Given the description of an element on the screen output the (x, y) to click on. 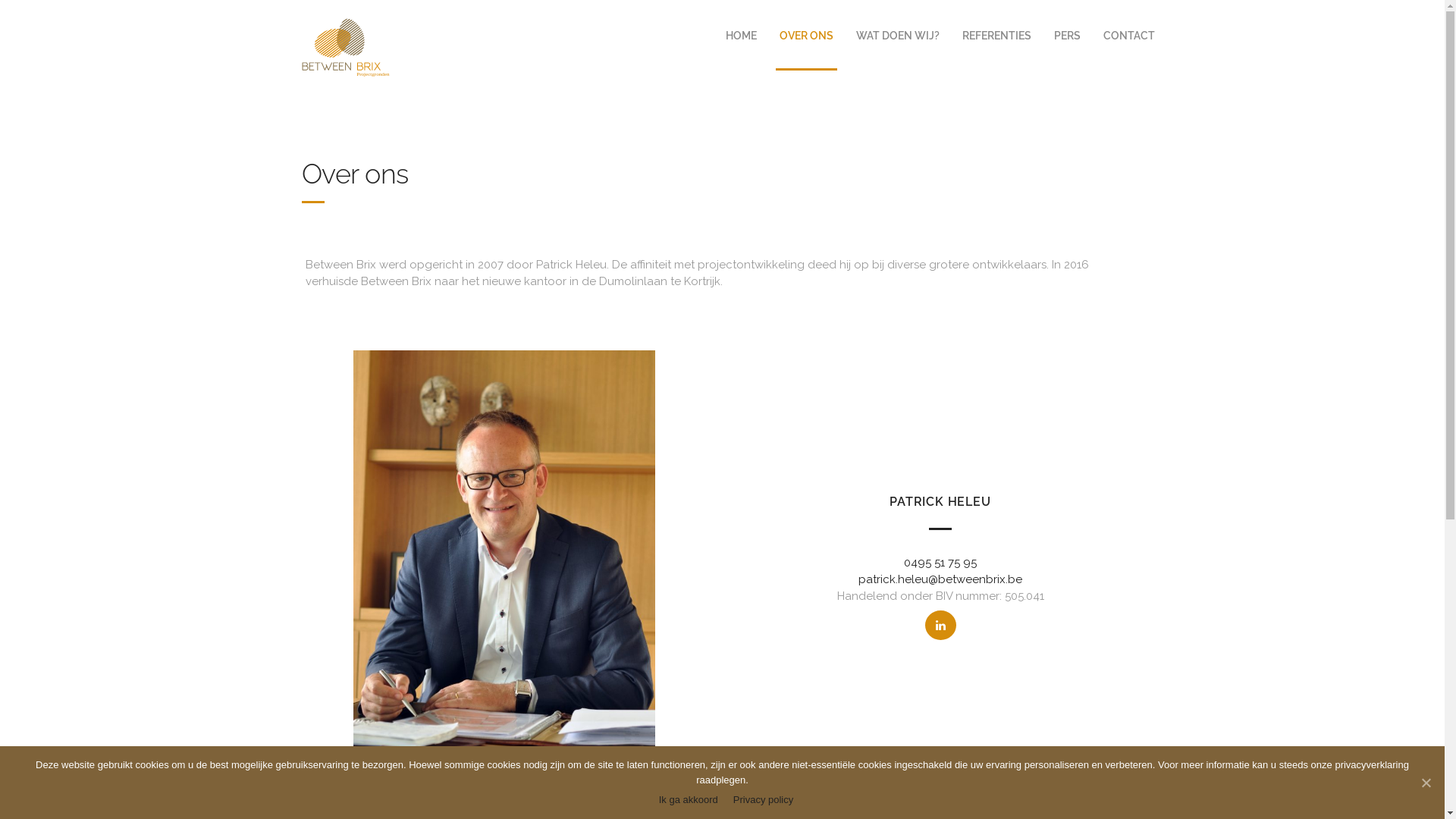
0495 51 75 95 Element type: text (939, 562)
WAT DOEN WIJ? Element type: text (897, 34)
OVER ONS Element type: text (805, 34)
PERS Element type: text (1066, 34)
Between Brix Element type: hover (347, 45)
HOME Element type: text (741, 34)
Ik ga akkoord Element type: text (688, 799)
REFERENTIES Element type: text (996, 34)
patrick.heleu@betweenbrix.be Element type: text (940, 579)
CONTACT Element type: text (1129, 34)
Privacy policy Element type: text (763, 799)
